Given the description of an element on the screen output the (x, y) to click on. 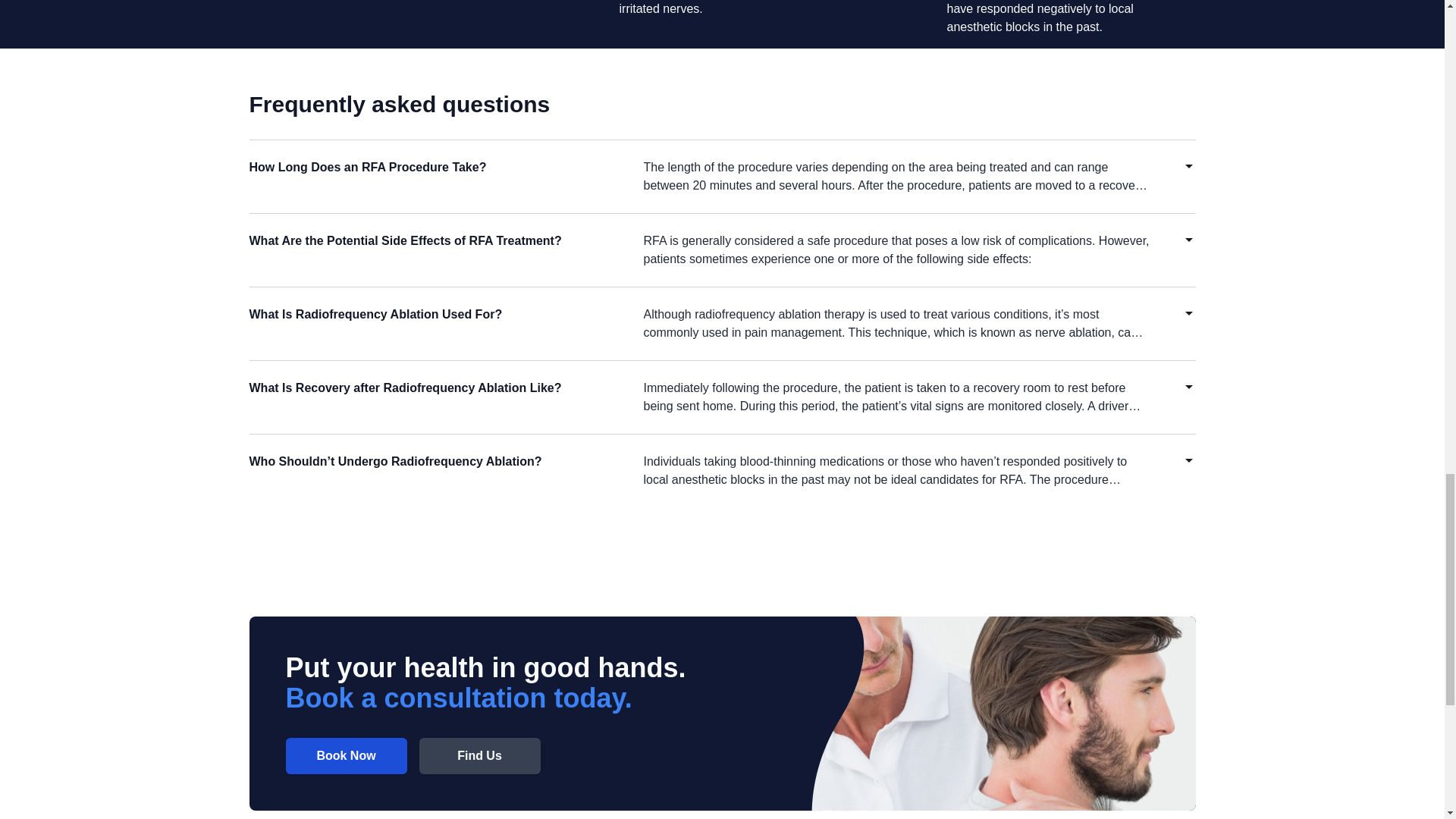
Book Now (345, 755)
Find Us (479, 755)
